Given the description of an element on the screen output the (x, y) to click on. 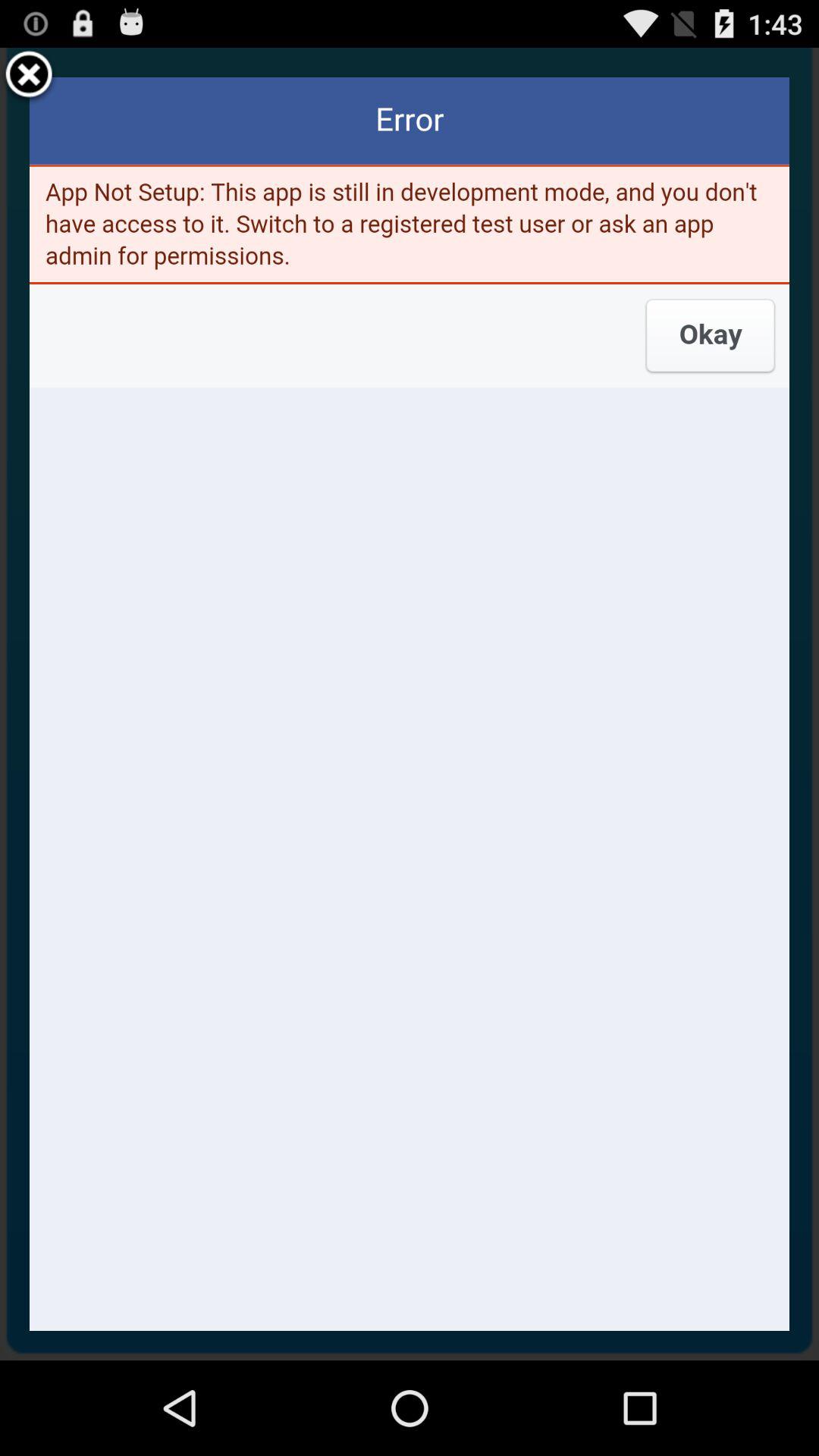
click the item at the center (409, 703)
